Given the description of an element on the screen output the (x, y) to click on. 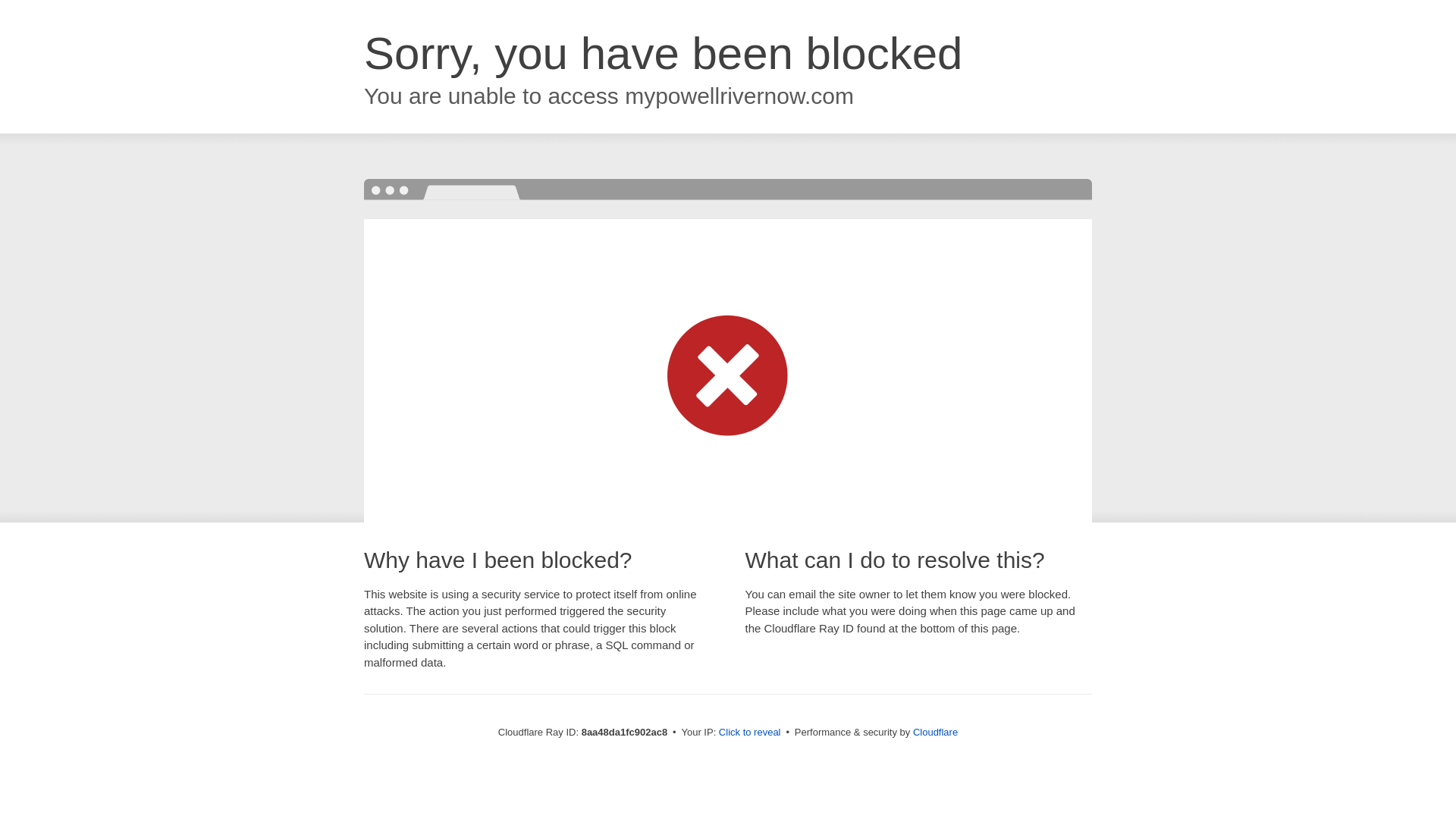
Click to reveal (749, 732)
Cloudflare (935, 731)
